Given the description of an element on the screen output the (x, y) to click on. 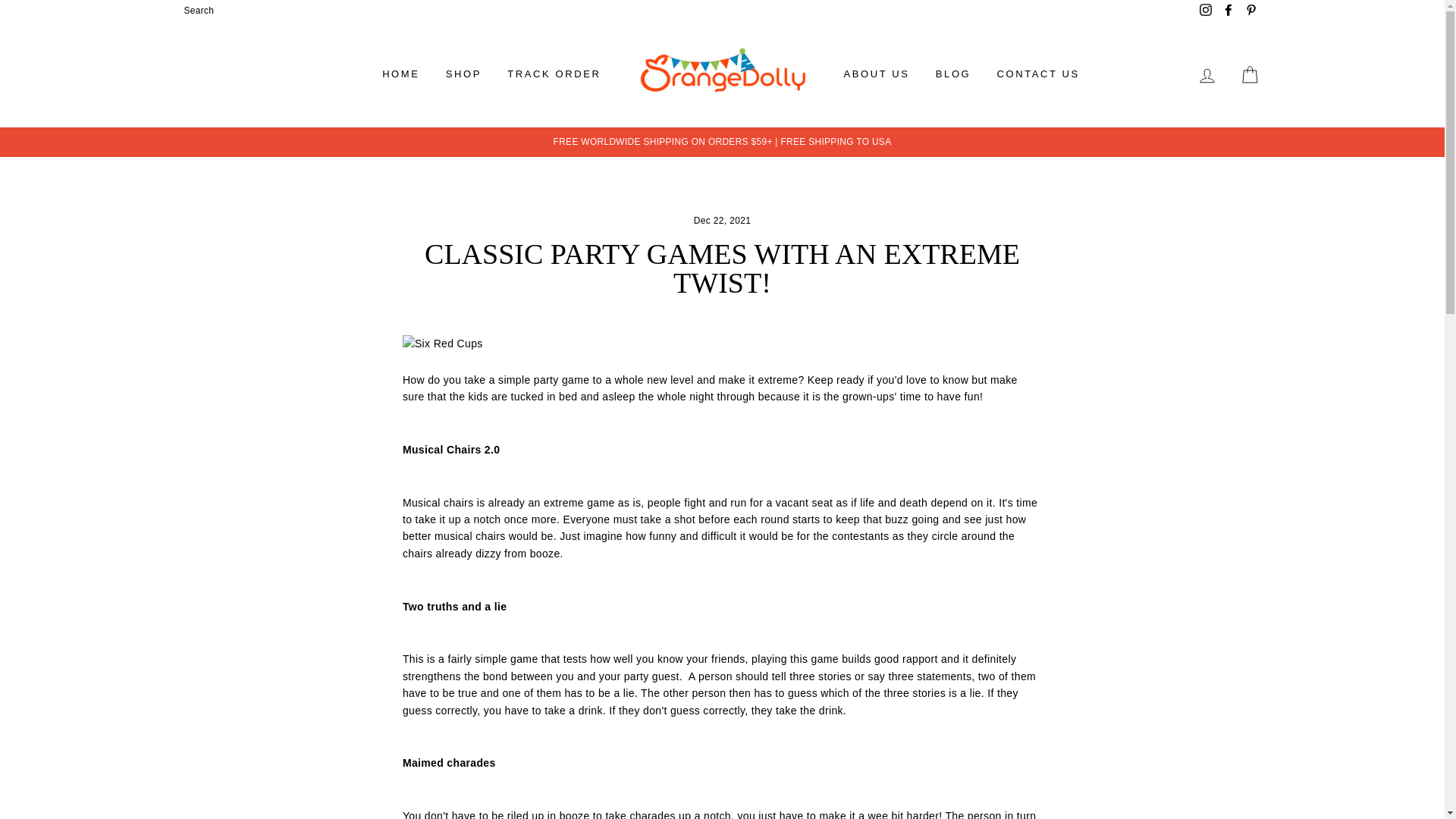
Instagram (1205, 11)
Facebook (1228, 11)
OrangeDolly on Instagram (1205, 11)
Search (198, 11)
OrangeDolly on Pinterest (1250, 11)
OrangeDolly on Facebook (1228, 11)
